Given the description of an element on the screen output the (x, y) to click on. 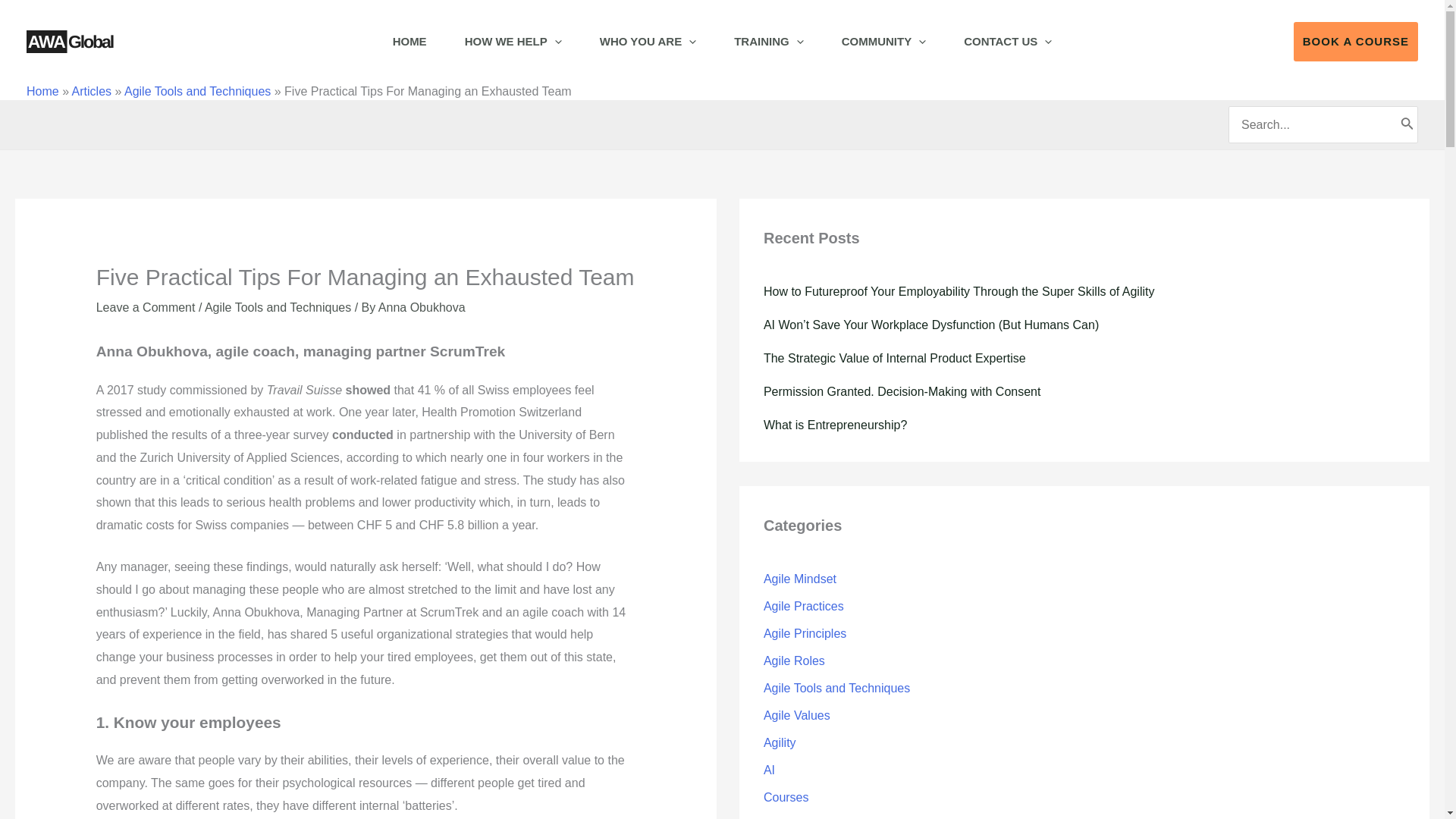
View all posts by Anna Obukhova (421, 307)
TRAINING (768, 41)
HOW WE HELP (512, 41)
WHO YOU ARE (647, 41)
